Given the description of an element on the screen output the (x, y) to click on. 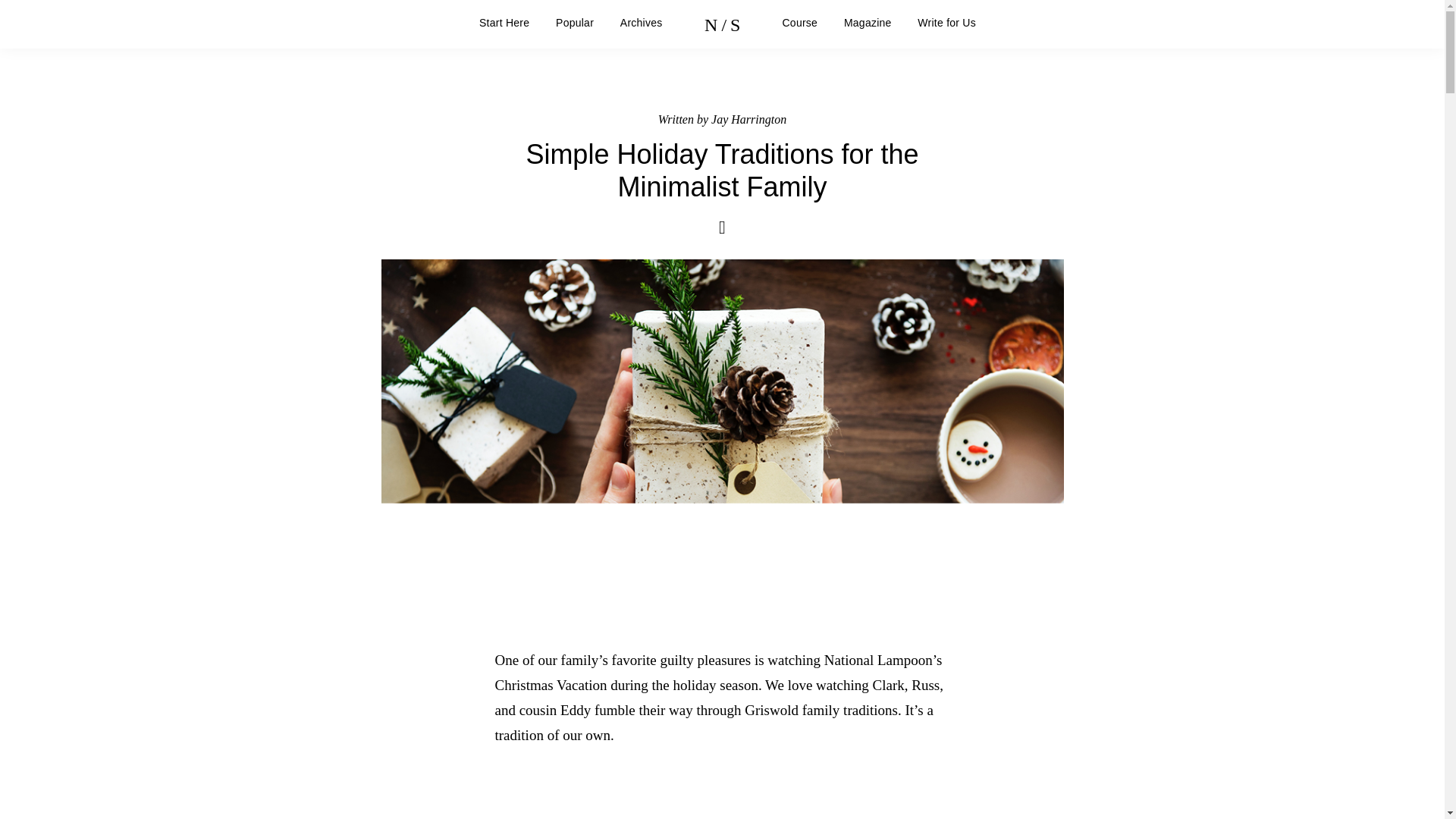
Magazine (867, 22)
Course (800, 22)
Archives (641, 22)
Jay Harrington (748, 119)
Popular (575, 22)
Write for Us (946, 22)
Start Here (504, 22)
